Given the description of an element on the screen output the (x, y) to click on. 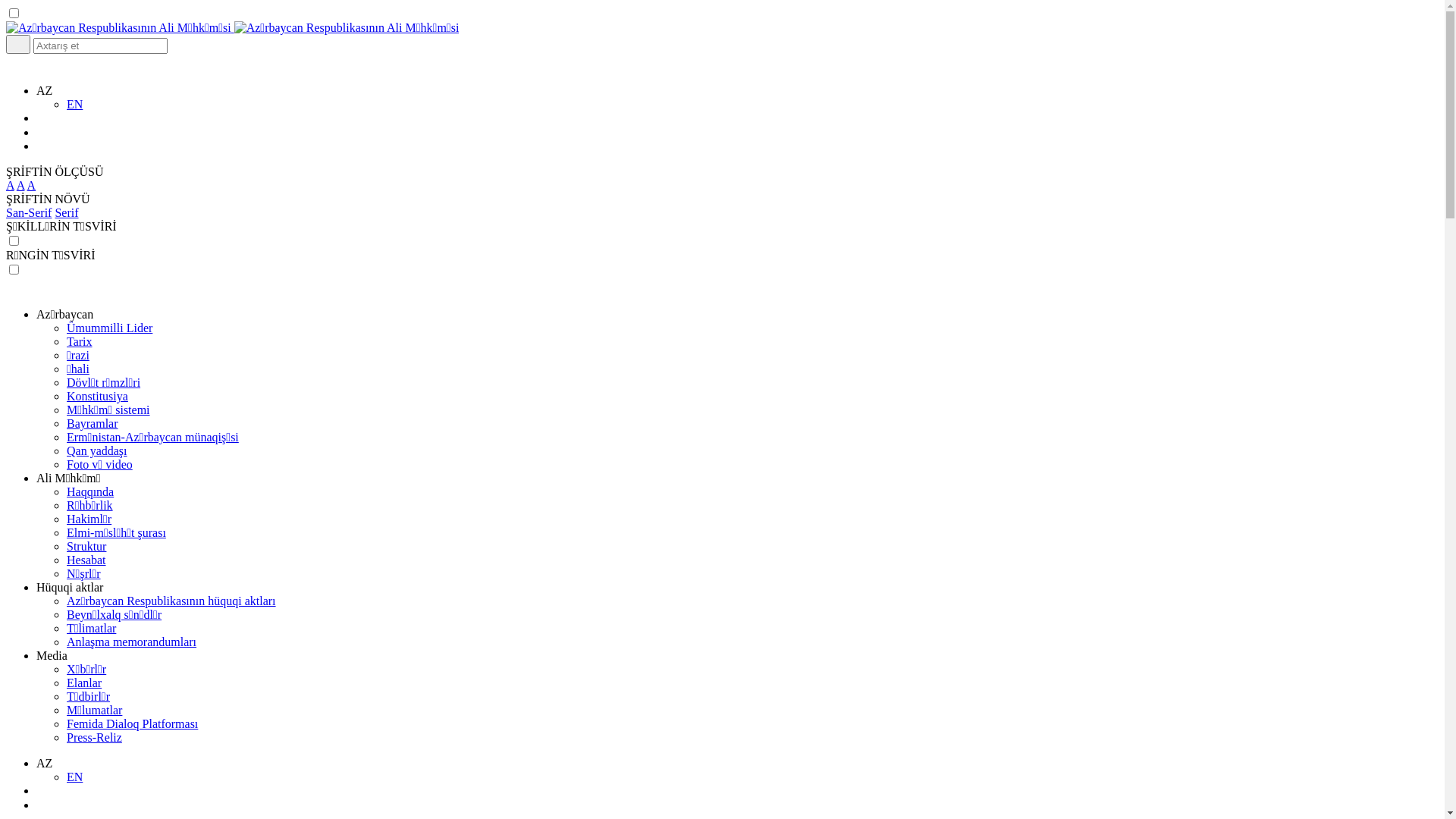
AZ Element type: text (44, 90)
EN Element type: text (74, 776)
A Element type: text (31, 184)
Bayramlar Element type: text (92, 423)
Elanlar Element type: text (83, 682)
Press-Reliz Element type: text (94, 737)
Struktur Element type: text (86, 545)
San-Serif Element type: text (28, 212)
Konstitusiya Element type: text (97, 395)
Hesabat Element type: text (86, 559)
Tarix Element type: text (79, 341)
AZ Element type: text (44, 762)
A Element type: text (10, 184)
EN Element type: text (74, 103)
A Element type: text (20, 184)
Serif Element type: text (66, 212)
